Given the description of an element on the screen output the (x, y) to click on. 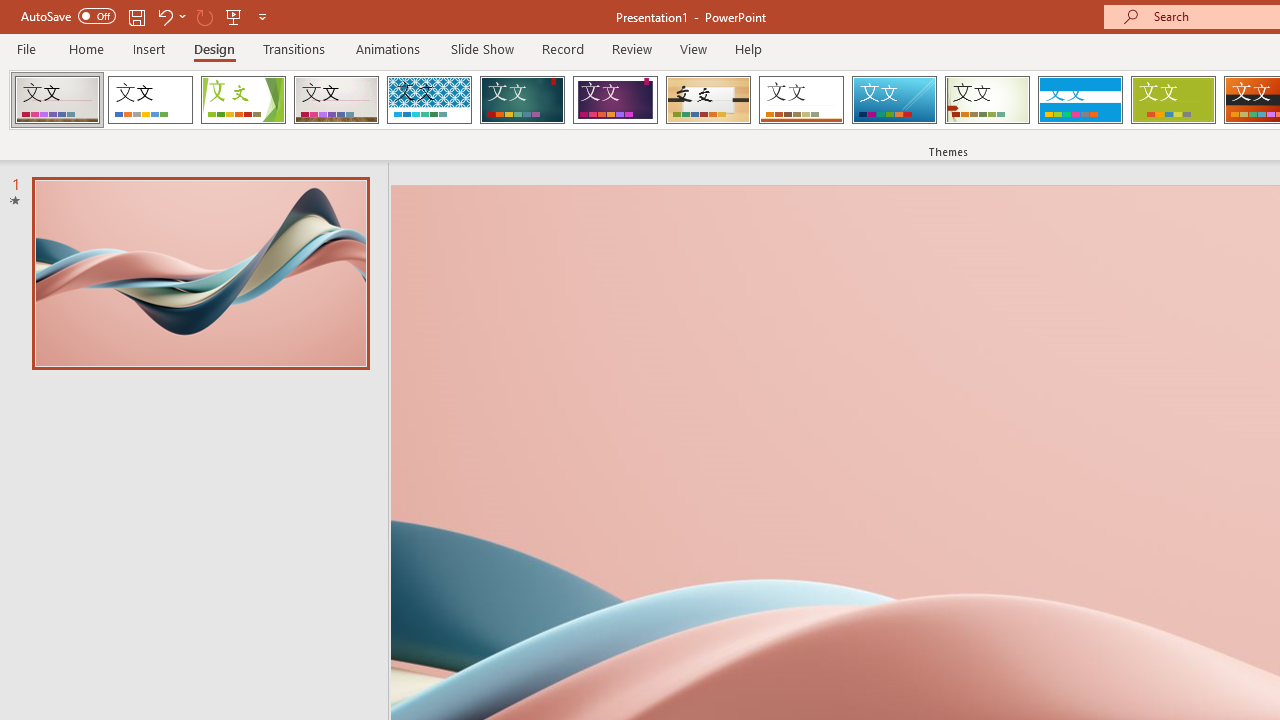
Integral (429, 100)
Office Theme (150, 100)
Ion (522, 100)
Basis (1172, 100)
Facet (243, 100)
